Given the description of an element on the screen output the (x, y) to click on. 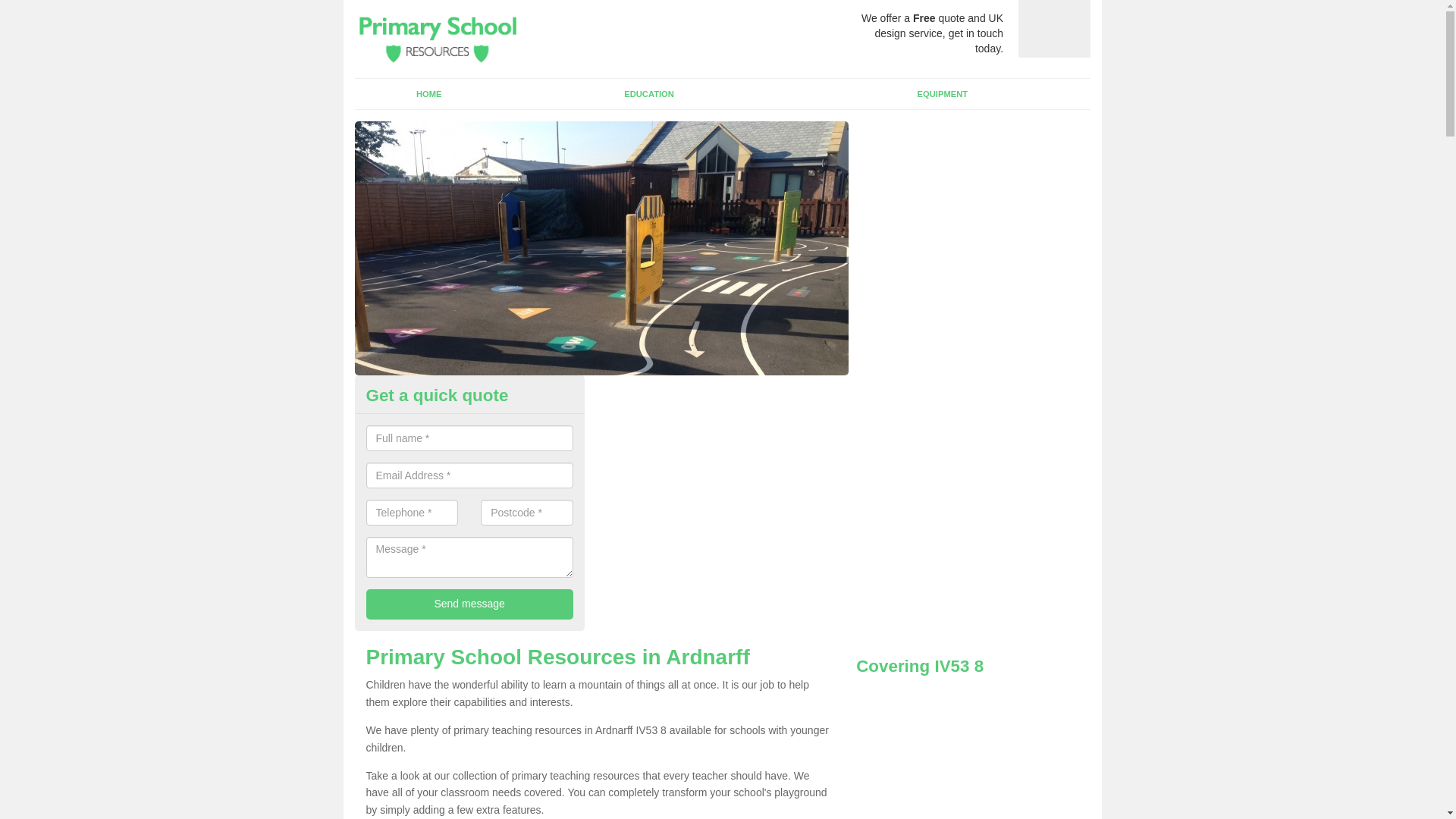
EQUIPMENT (941, 93)
Header (435, 38)
Send message (468, 603)
HOME (429, 93)
EDUCATION (648, 93)
